Given the description of an element on the screen output the (x, y) to click on. 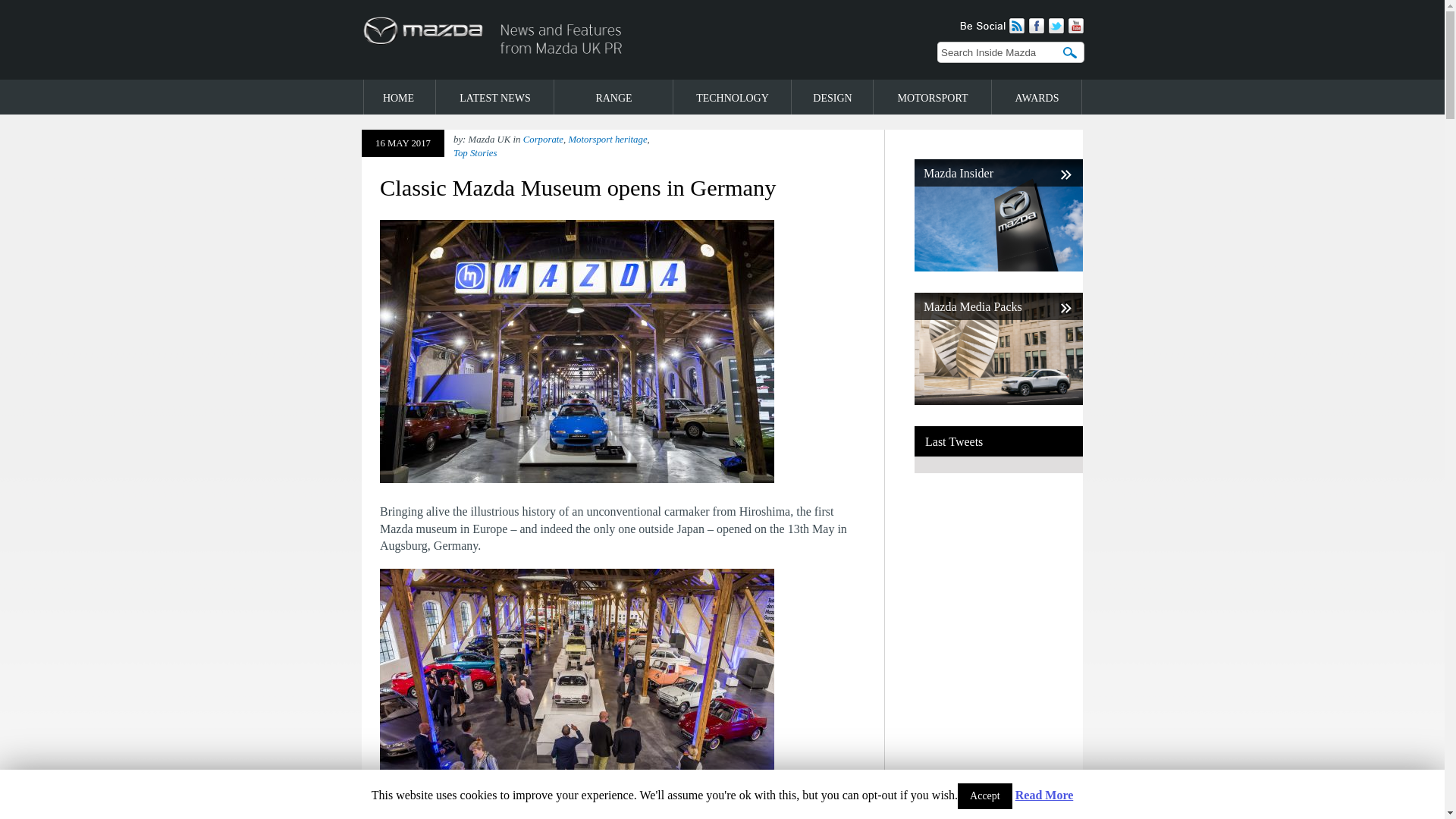
Search Inside Mazda (1072, 52)
Motorsport heritage (606, 139)
Mazda Media Packs (998, 400)
Mazda Insider (998, 267)
RANGE (614, 96)
Mazda UK on Facebook (1035, 29)
Mazda UK on Twitter (1054, 29)
Top Stories (474, 153)
Inside Mazda (548, 74)
DESIGN (833, 96)
Permanent Link to Classic Mazda Museum opens in Germany (578, 187)
HOME (398, 96)
TECHNOLOGY (733, 96)
AWARDS (1037, 96)
Search Inside Mazda (999, 52)
